Given the description of an element on the screen output the (x, y) to click on. 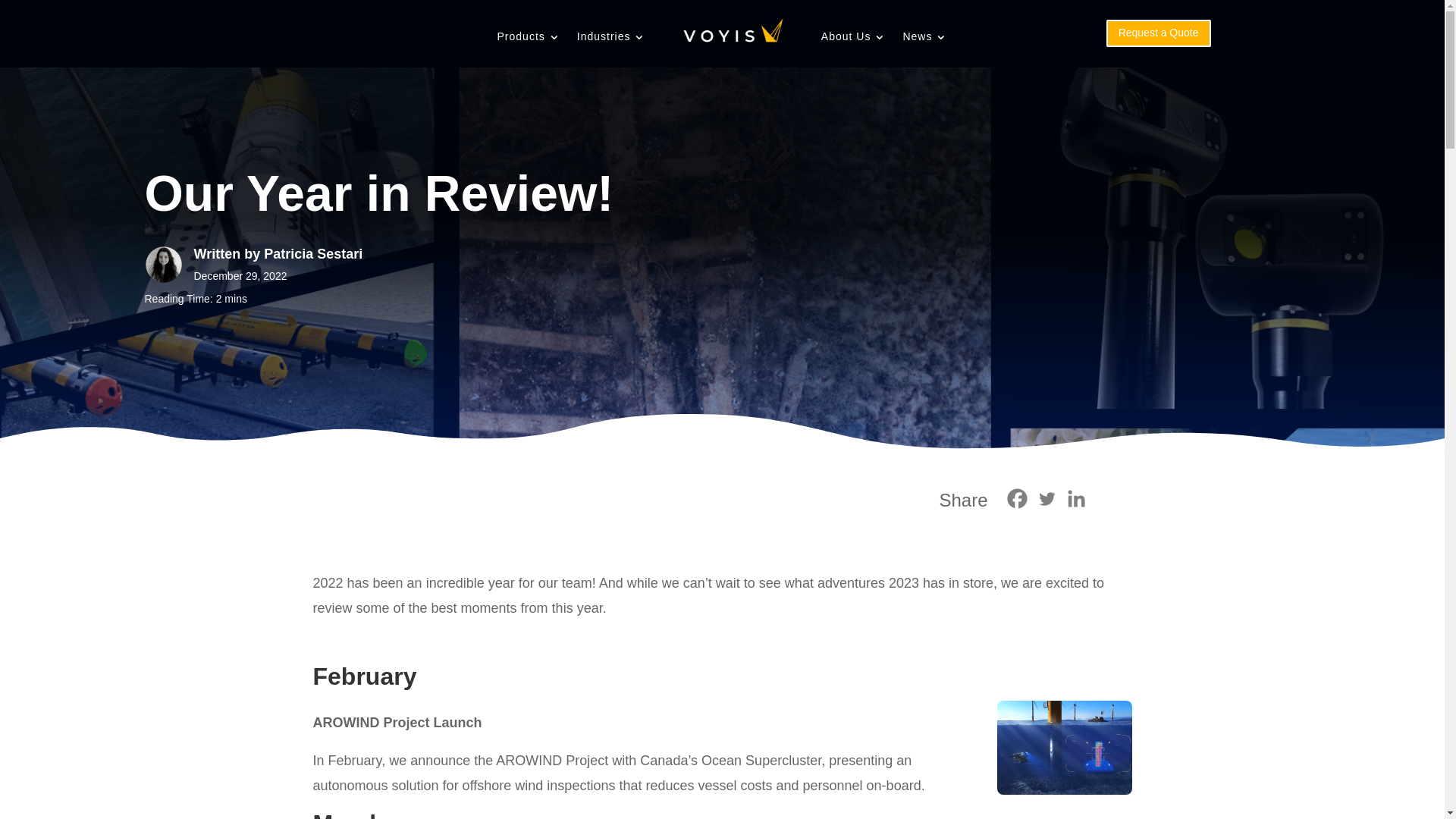
About Us (853, 36)
Products (528, 36)
Twitter (1046, 498)
Facebook (1017, 498)
Linkedin (1075, 498)
Request a Quote (1158, 32)
Industries (611, 36)
